Given the description of an element on the screen output the (x, y) to click on. 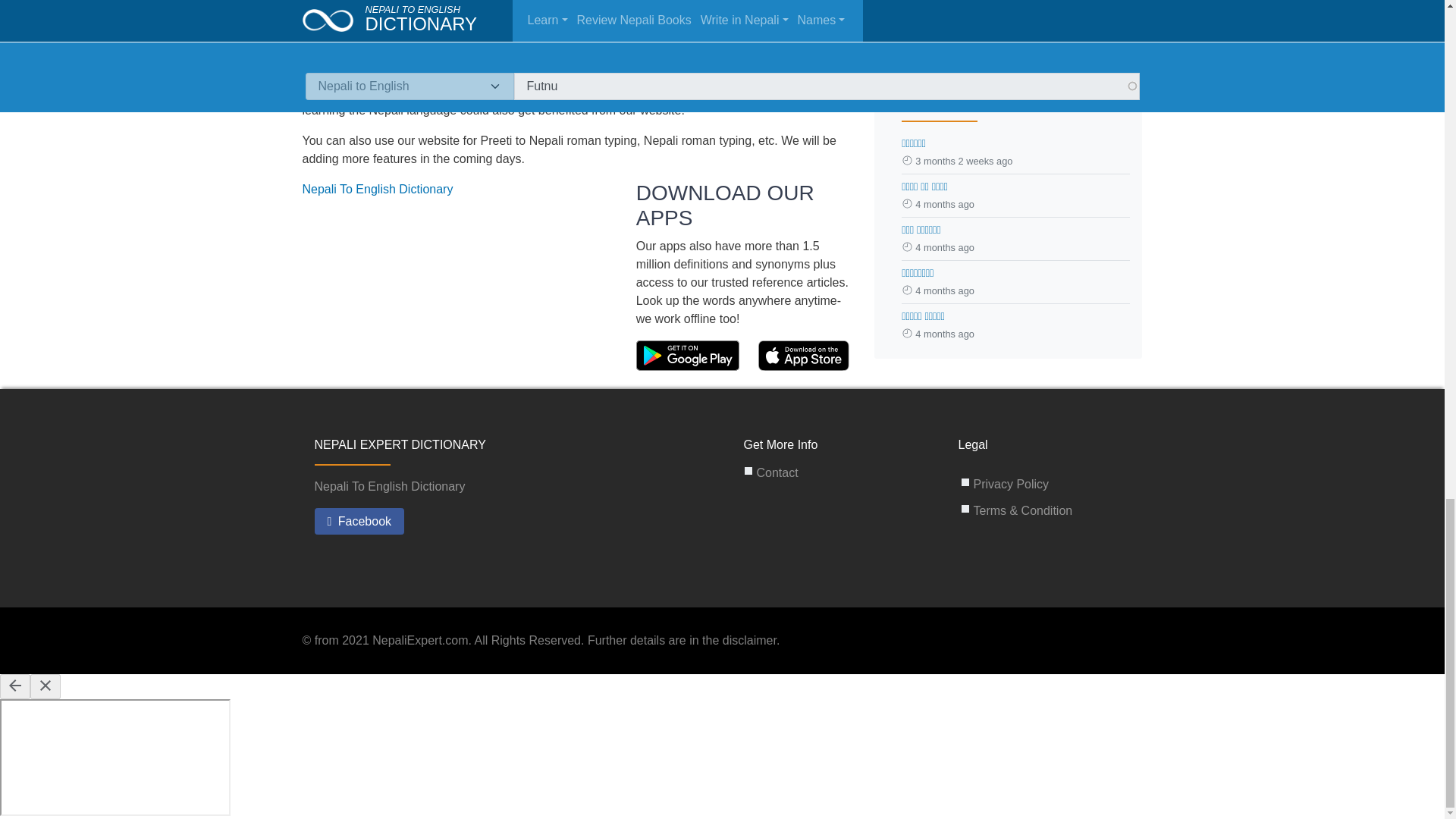
Nepali to English Dictionary on Apple (803, 354)
Nepali To English Dictionary (376, 188)
Nepali to English Dictionary on Google Play (689, 354)
Created with sketchtool. (687, 355)
Like us on Facebook (359, 521)
